Given the description of an element on the screen output the (x, y) to click on. 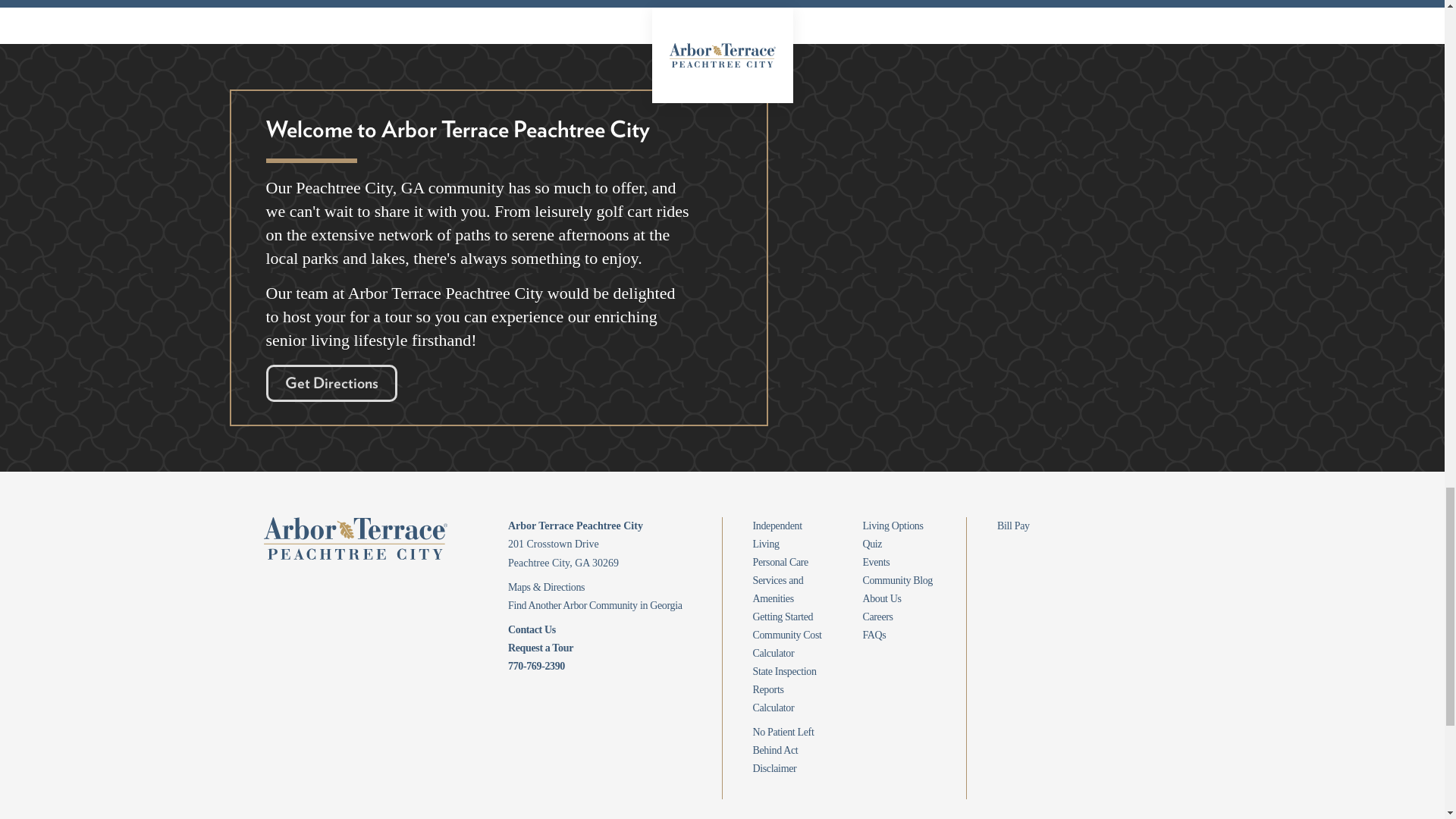
Services and Amenities (777, 589)
770-769-2390 (536, 665)
Community Blog (897, 580)
Careers (876, 616)
Events (875, 562)
2 (721, 4)
FAQs (873, 634)
Living Options Quiz (892, 534)
Getting Started (782, 616)
3 (773, 4)
Independent Living (777, 534)
About Us (881, 598)
Get Directions (330, 383)
Community Cost Calculator (786, 644)
State Inspection Reports Calculator (783, 689)
